Given the description of an element on the screen output the (x, y) to click on. 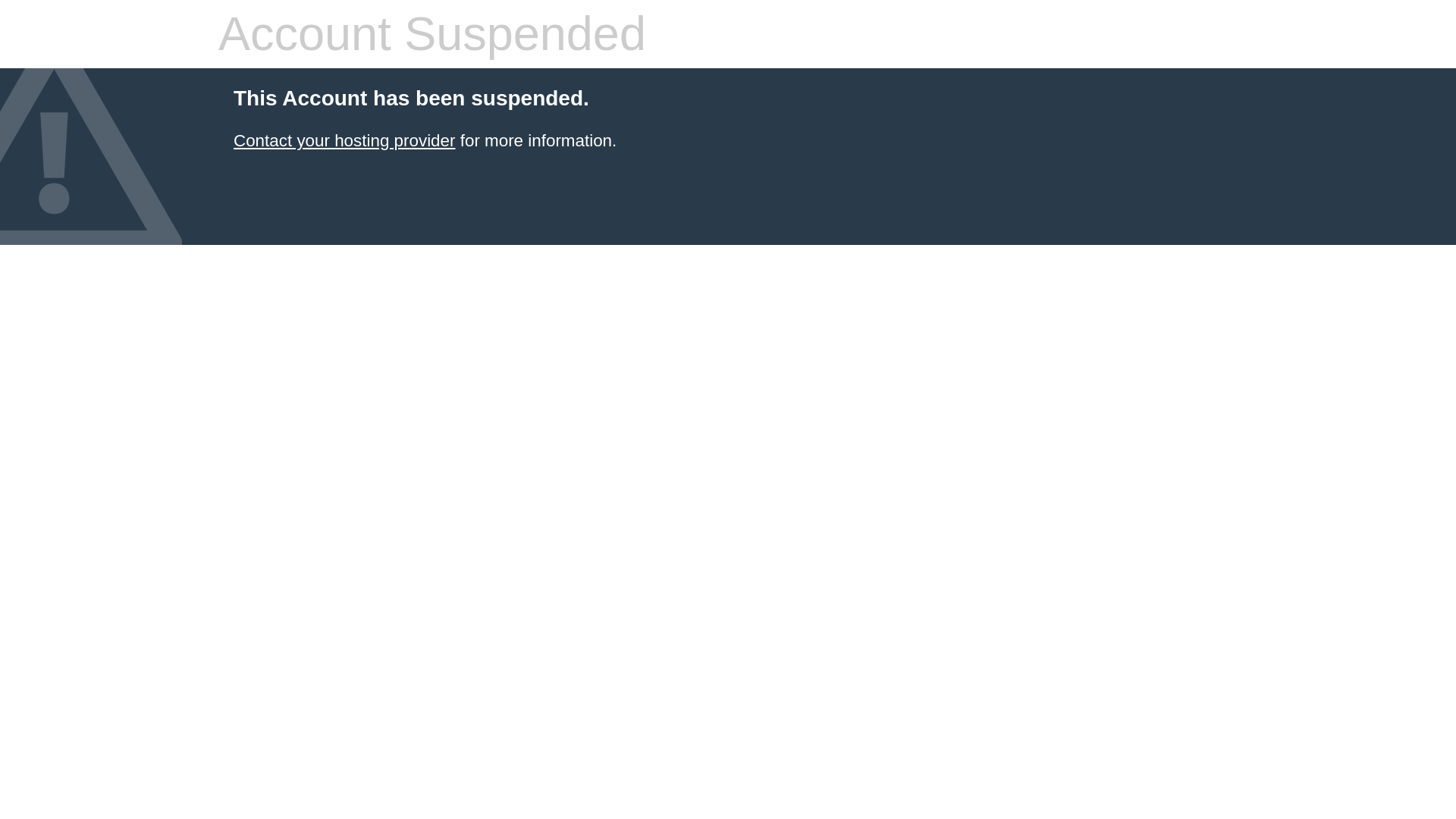
Contact your hosting provider (343, 140)
